Given the description of an element on the screen output the (x, y) to click on. 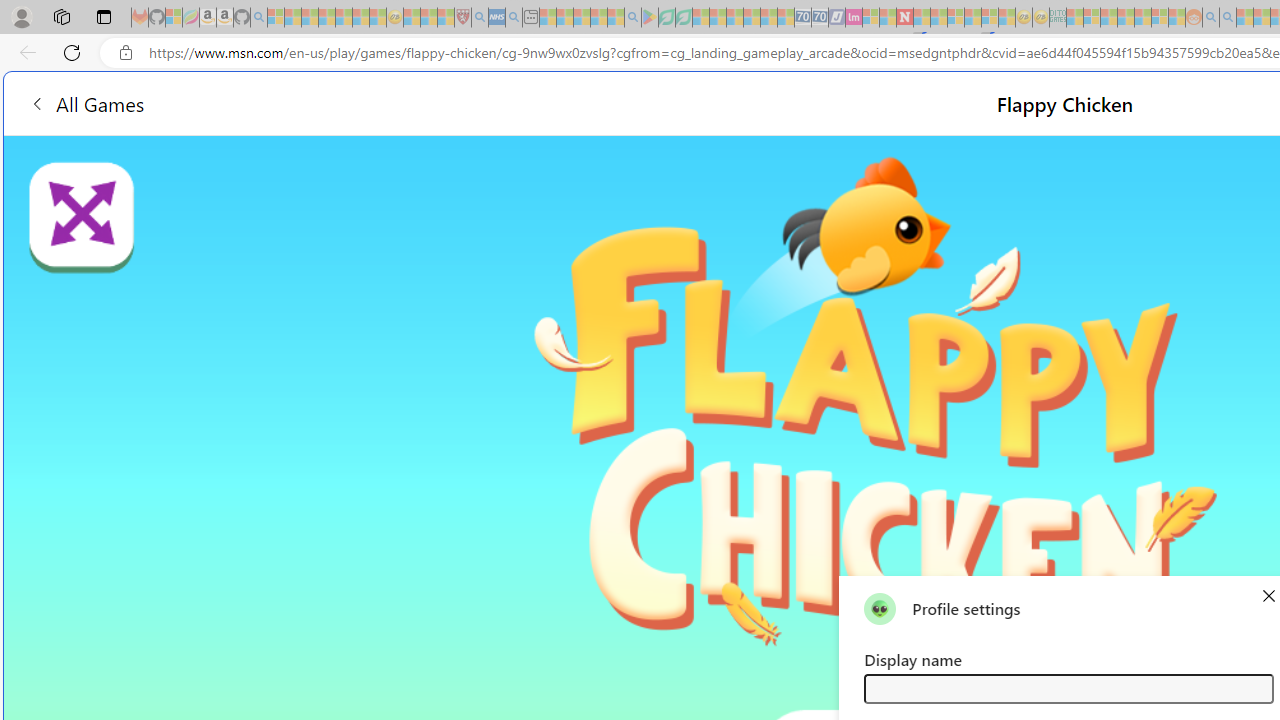
Class: text-input (1068, 688)
NCL Adult Asthma Inhaler Choice Guideline - Sleeping (497, 17)
utah sues federal government - Search - Sleeping (513, 17)
Microsoft Start - Sleeping (1244, 17)
Cheap Car Rentals - Save70.com - Sleeping (802, 17)
Kinda Frugal - MSN - Sleeping (1142, 17)
